Given the description of an element on the screen output the (x, y) to click on. 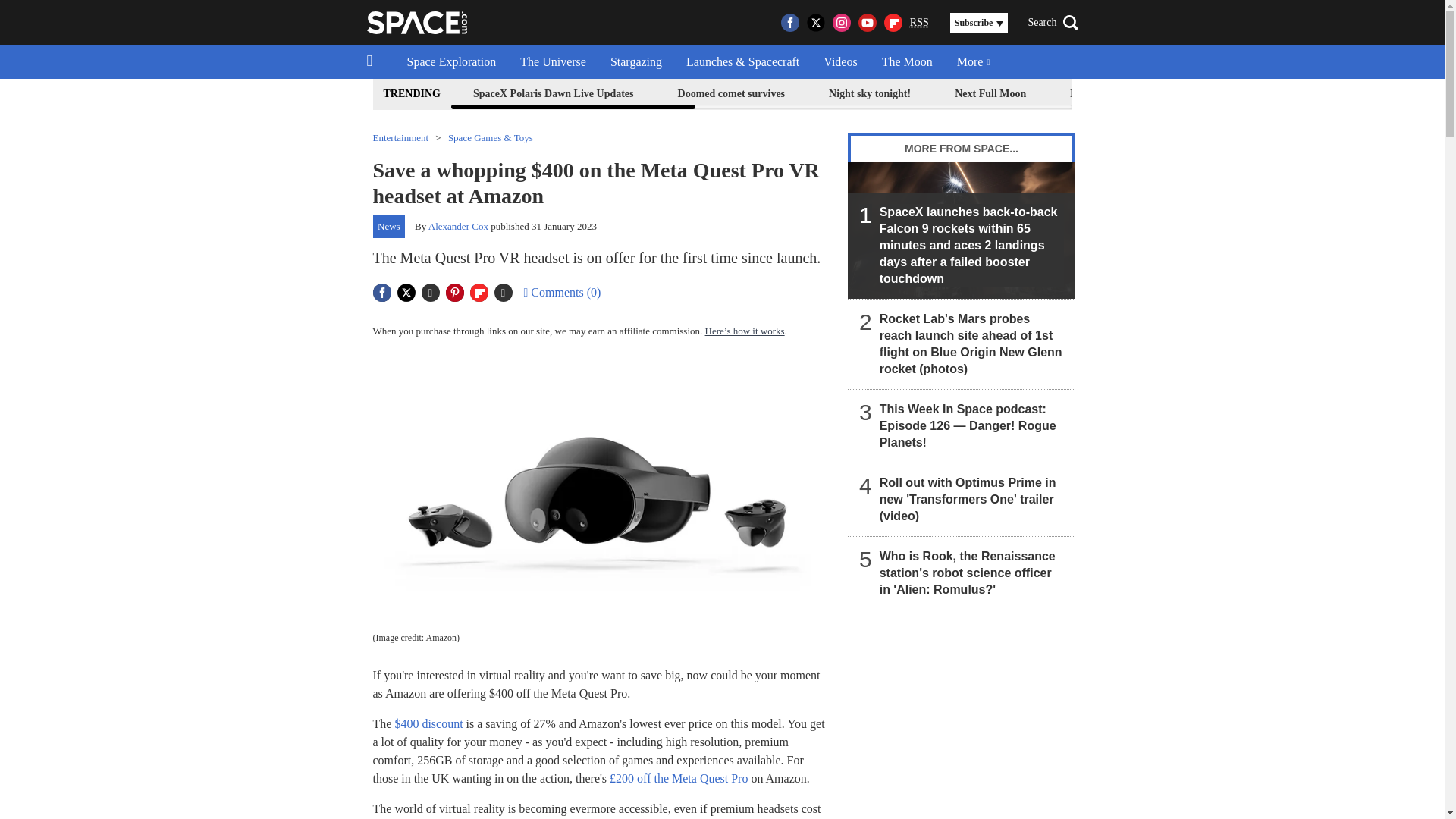
SpaceX Polaris Dawn Live Updates (553, 93)
Stargazing (636, 61)
Doomed comet survives (731, 93)
The Universe (553, 61)
Best Star Projectors (1343, 93)
Really Simple Syndication (919, 21)
Night sky tonight! (869, 93)
Next Full Moon (989, 93)
Videos (839, 61)
